Given the description of an element on the screen output the (x, y) to click on. 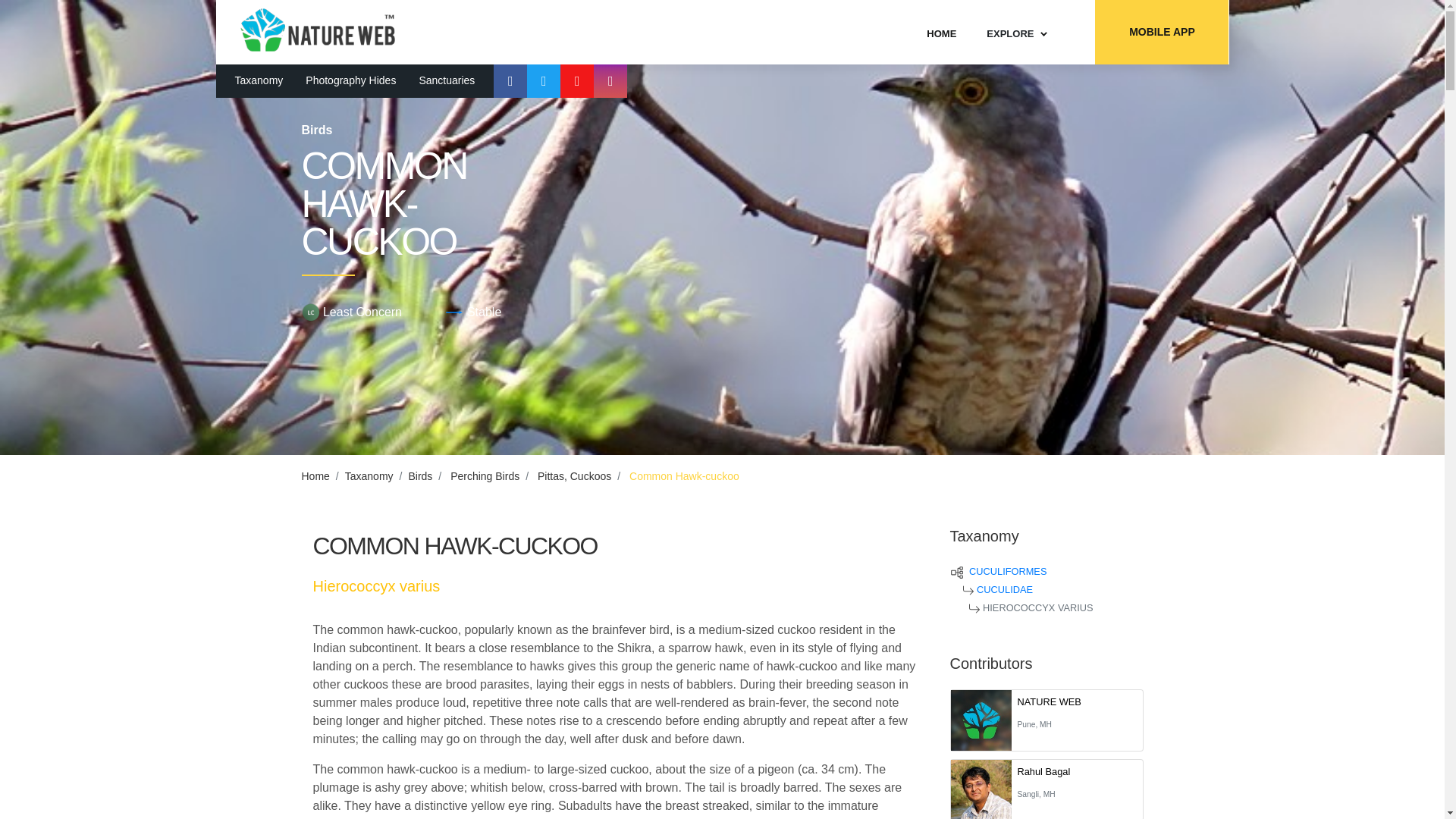
Taxanomy (258, 81)
Home (315, 476)
Photography Hides (350, 81)
Taxanomy (369, 476)
Perching Birds (484, 476)
MOBILE APP (1161, 32)
Sanctuaries (446, 81)
Birds (419, 476)
